Given the description of an element on the screen output the (x, y) to click on. 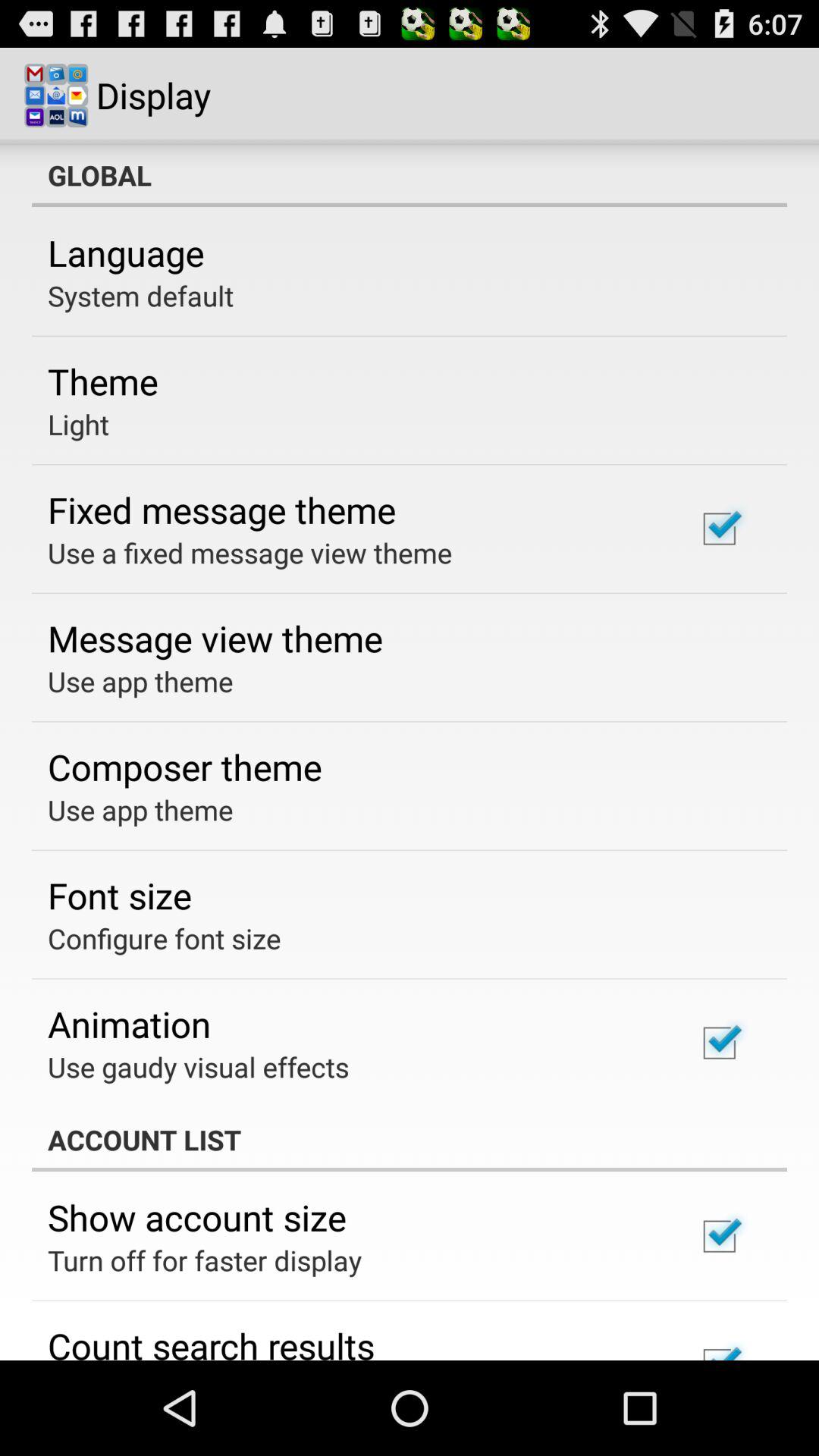
select use a fixed item (249, 552)
